Given the description of an element on the screen output the (x, y) to click on. 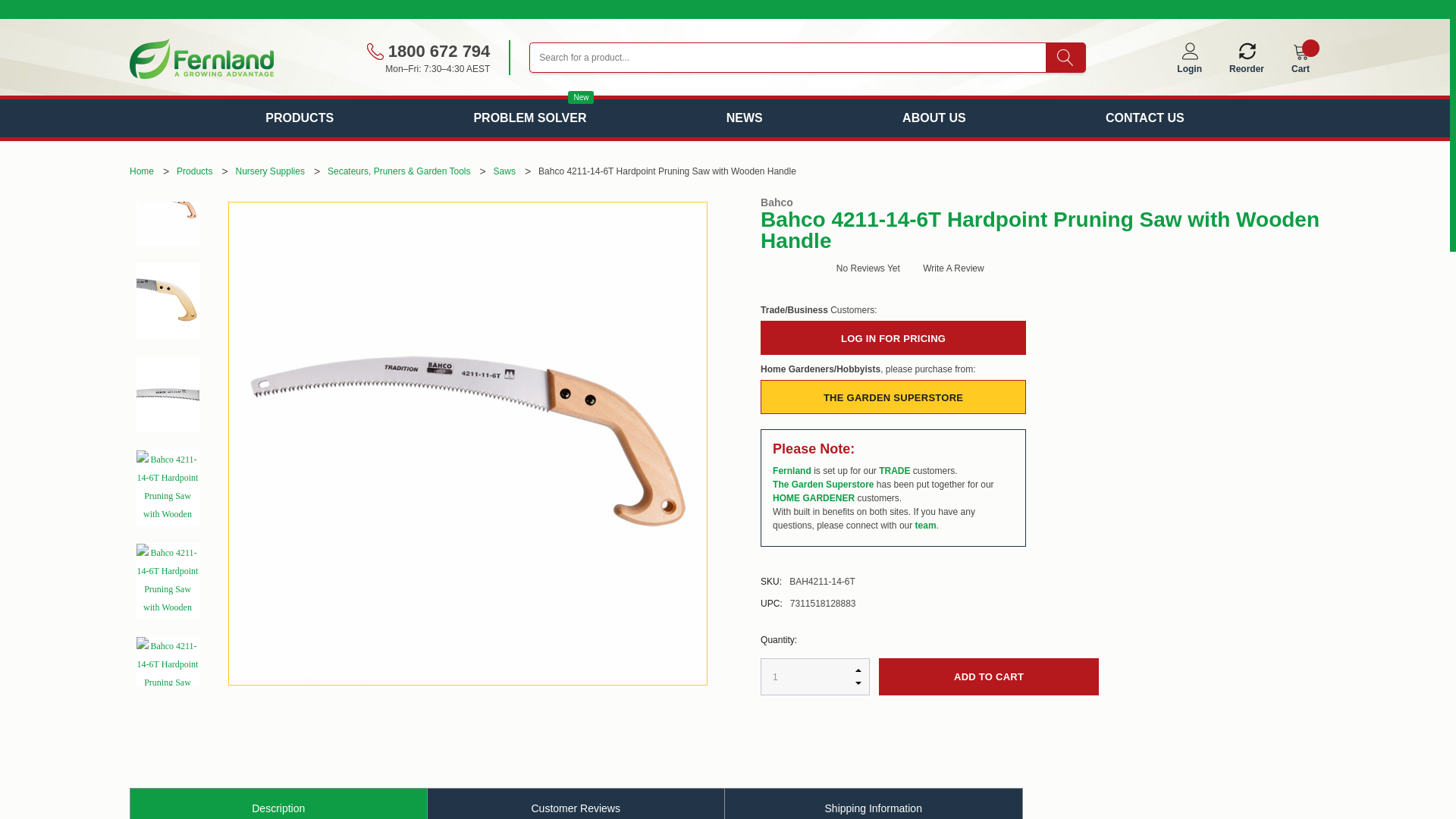
1 (814, 676)
PRODUCTS (298, 118)
1800 672 794 (427, 51)
Add to Cart (989, 676)
Fernland (201, 58)
Reorder (1245, 60)
